Given the description of an element on the screen output the (x, y) to click on. 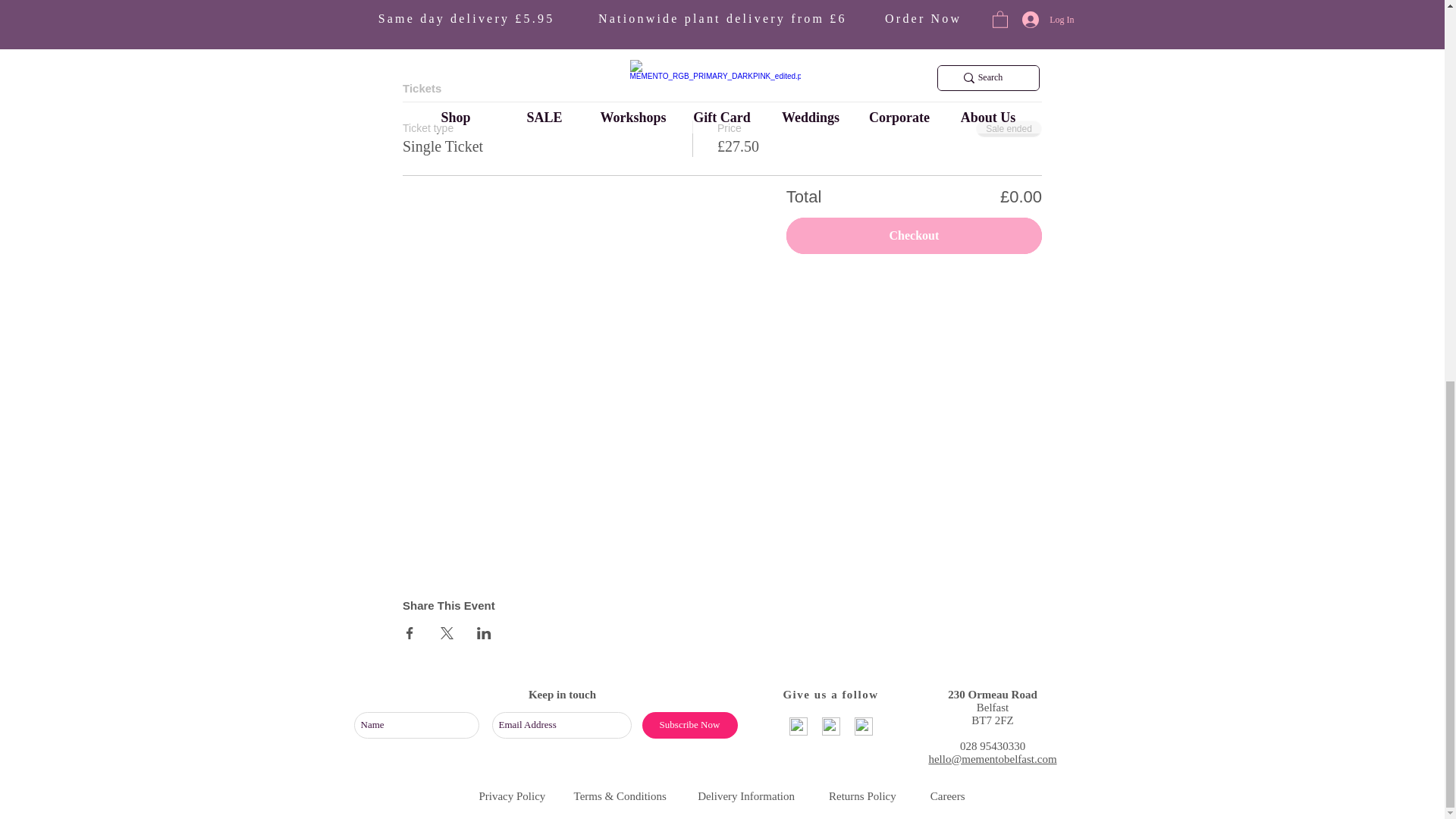
Privacy Policy (511, 796)
Subscribe Now (689, 724)
Checkout (914, 235)
